Given the description of an element on the screen output the (x, y) to click on. 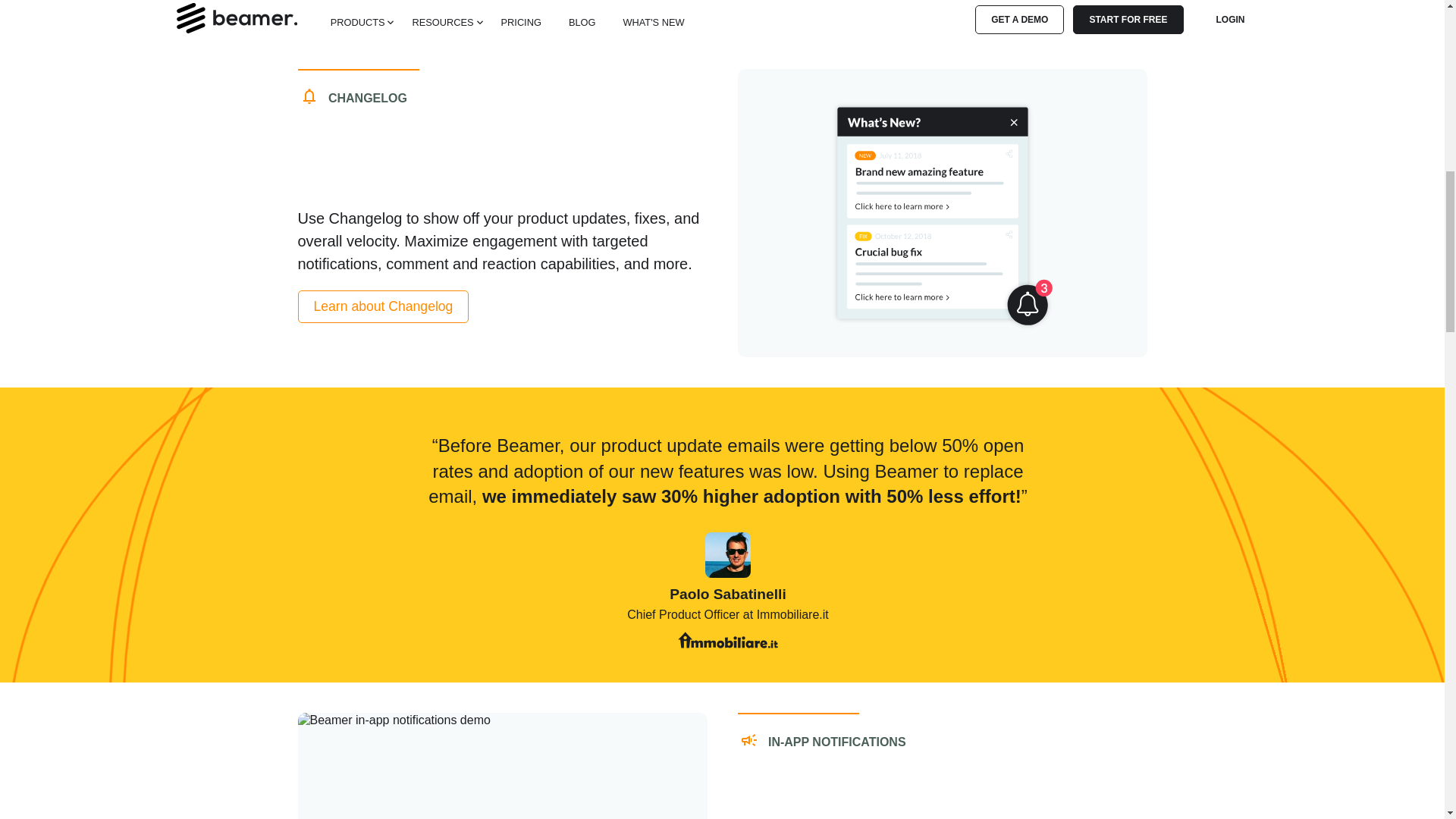
CHANGELOG (501, 129)
Learn about Changelog (382, 306)
IN-APP NOTIFICATIONS (941, 765)
